Given the description of an element on the screen output the (x, y) to click on. 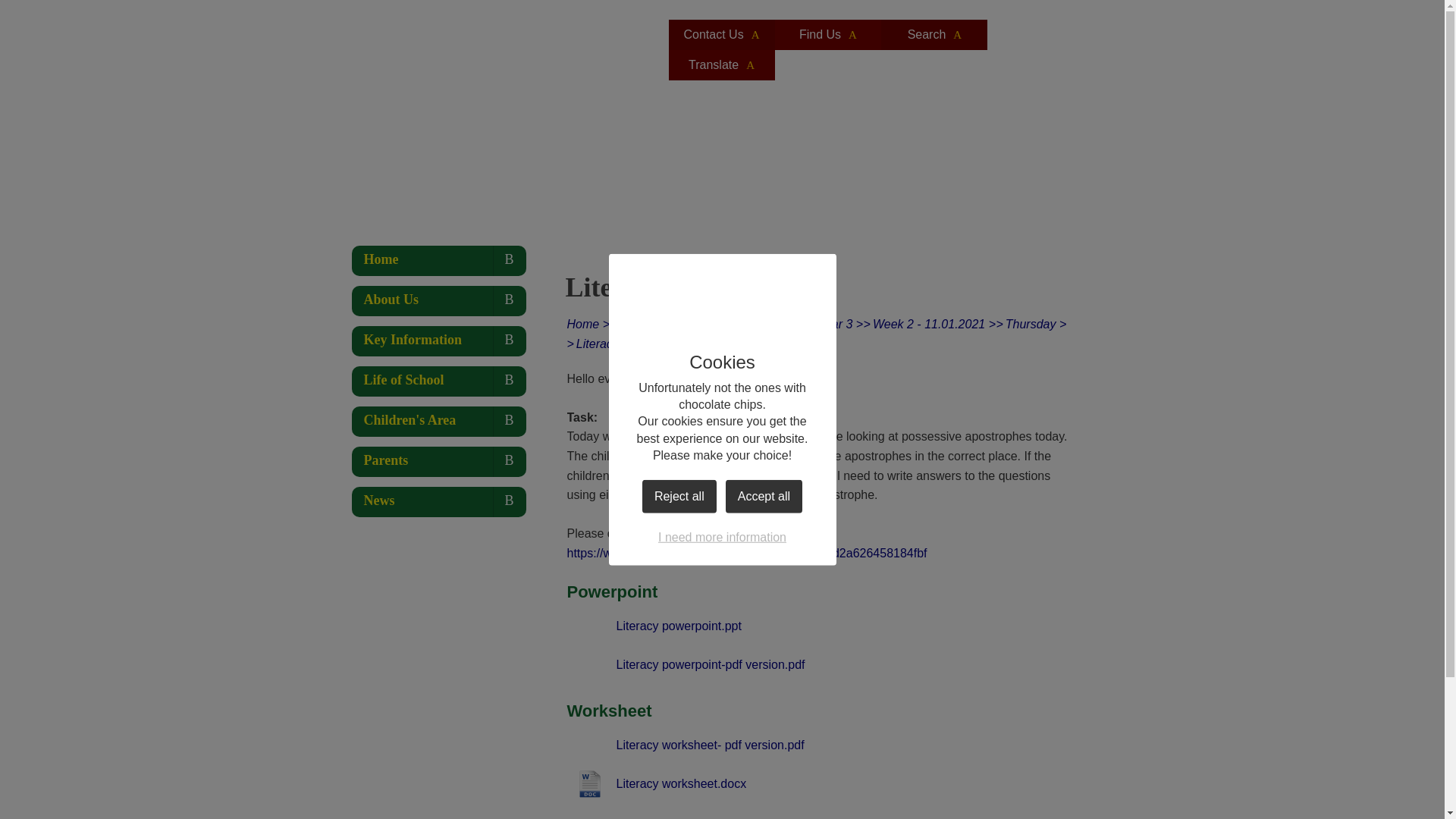
Home (583, 323)
Literacy worksheet- pdf version.pdf (686, 745)
Key Information (662, 323)
Literacy powerpoint-pdf version.pdf (686, 664)
Key Information (438, 340)
Literacy powerpoint.ppt (654, 626)
Literacy worksheet.docx (656, 783)
Year 3 (833, 323)
2021 Remote (759, 323)
smiley (813, 532)
